Given the description of an element on the screen output the (x, y) to click on. 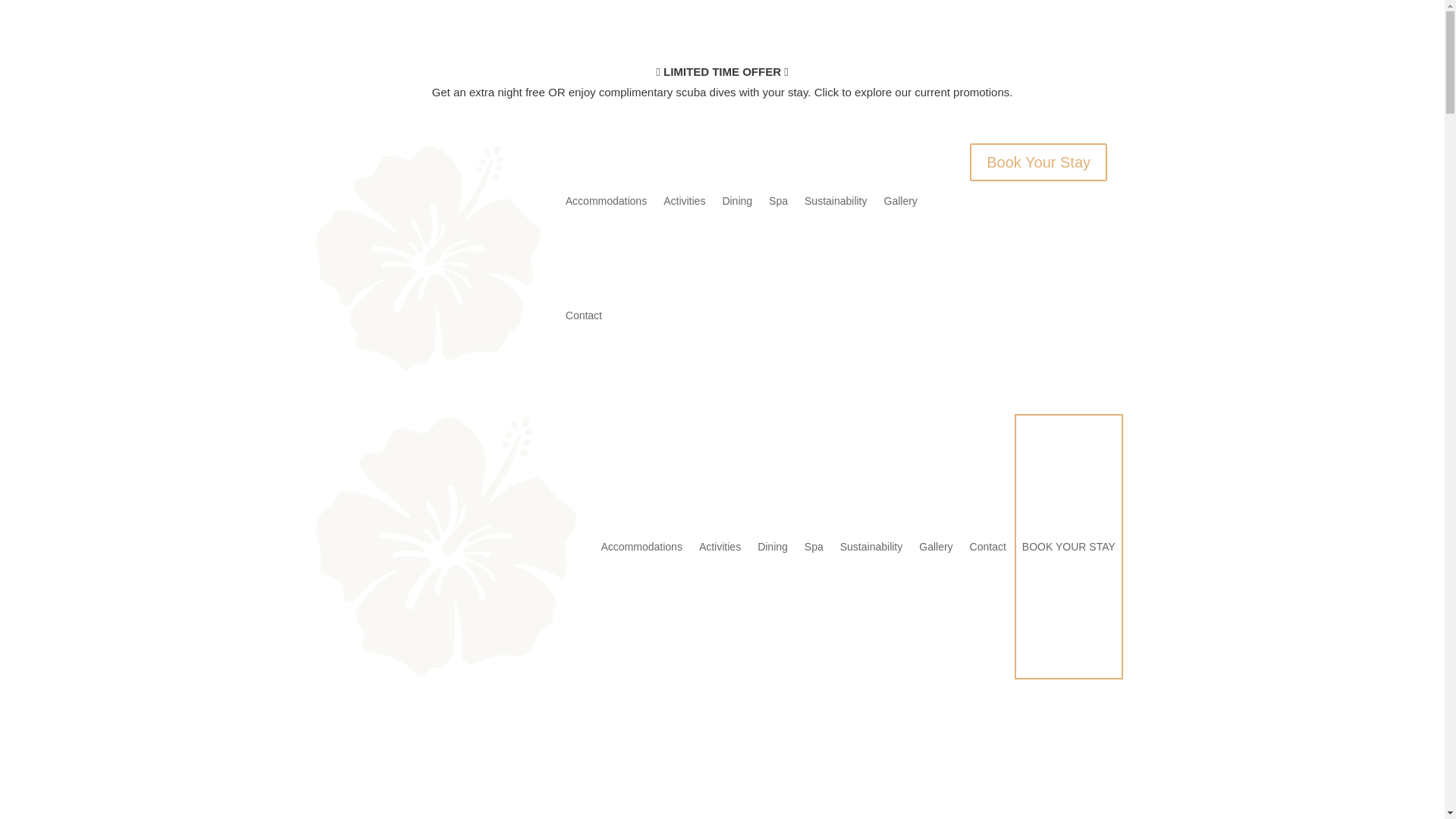
Book Your Stay (1037, 161)
